Given the description of an element on the screen output the (x, y) to click on. 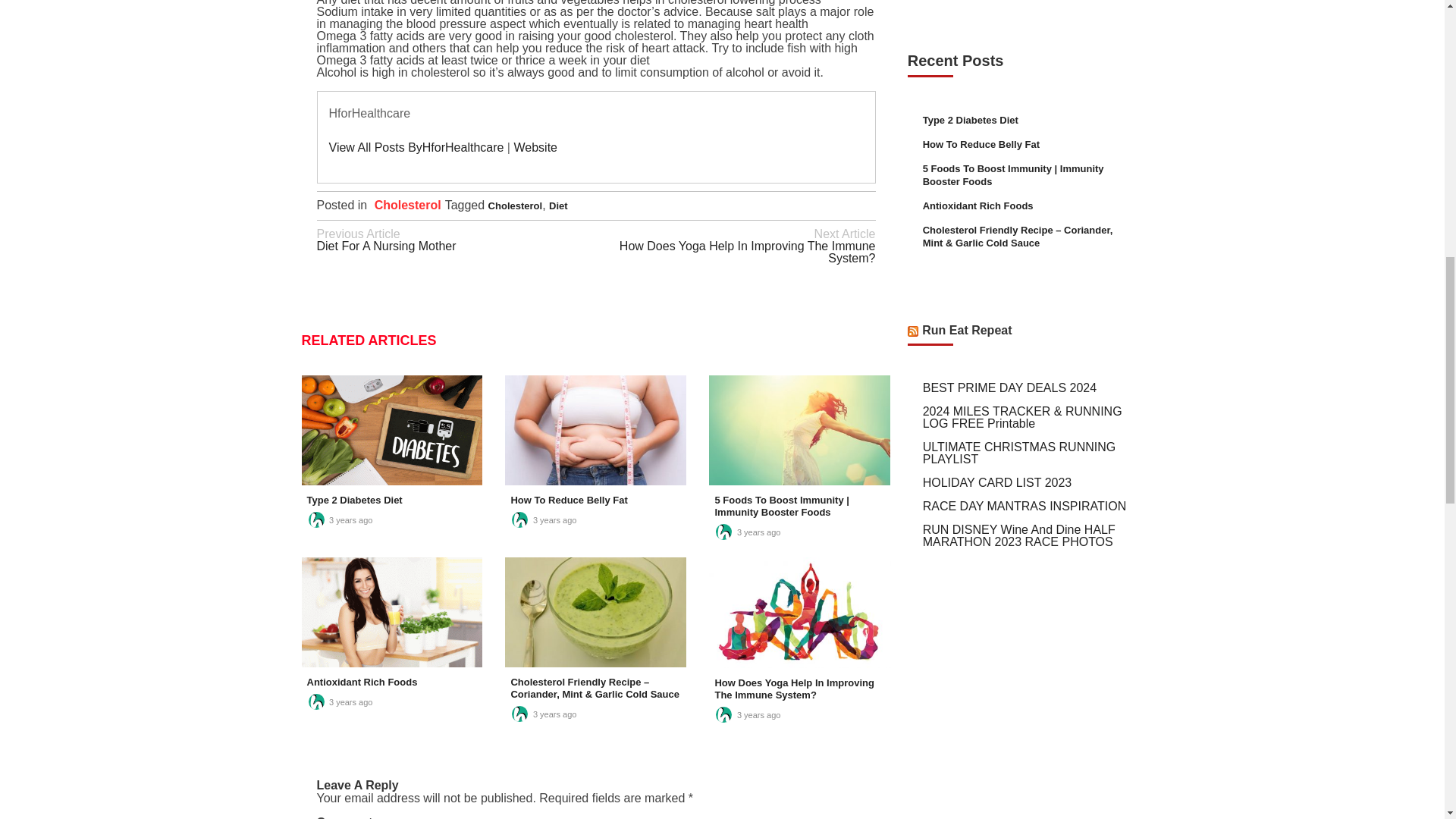
How Does Yoga Help In Improving The Immune System? (793, 689)
View All Posts ByHforHealthcare (416, 146)
How To Reduce Belly Fat (569, 500)
Website (456, 240)
Diet (535, 146)
Type 2 Diabetes Diet (557, 205)
Cholesterol (353, 500)
Cholesterol (407, 205)
Antioxidant Rich Foods (515, 205)
